Given the description of an element on the screen output the (x, y) to click on. 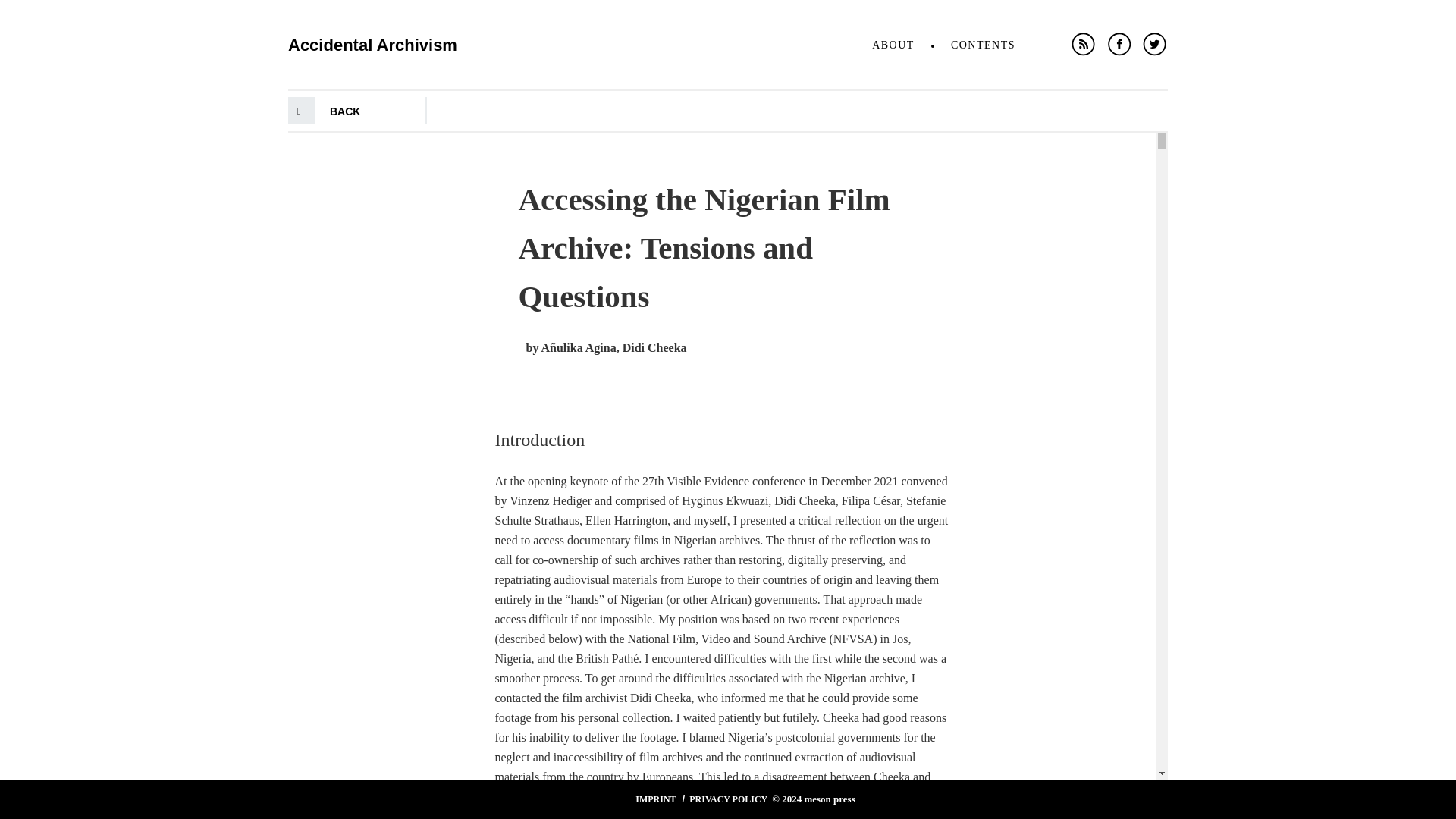
CONTENTS (982, 43)
ABOUT (893, 43)
PRIVACY POLICY (727, 798)
Accidental Archivism (372, 35)
BACK (344, 111)
IMPRINT (654, 798)
